Given the description of an element on the screen output the (x, y) to click on. 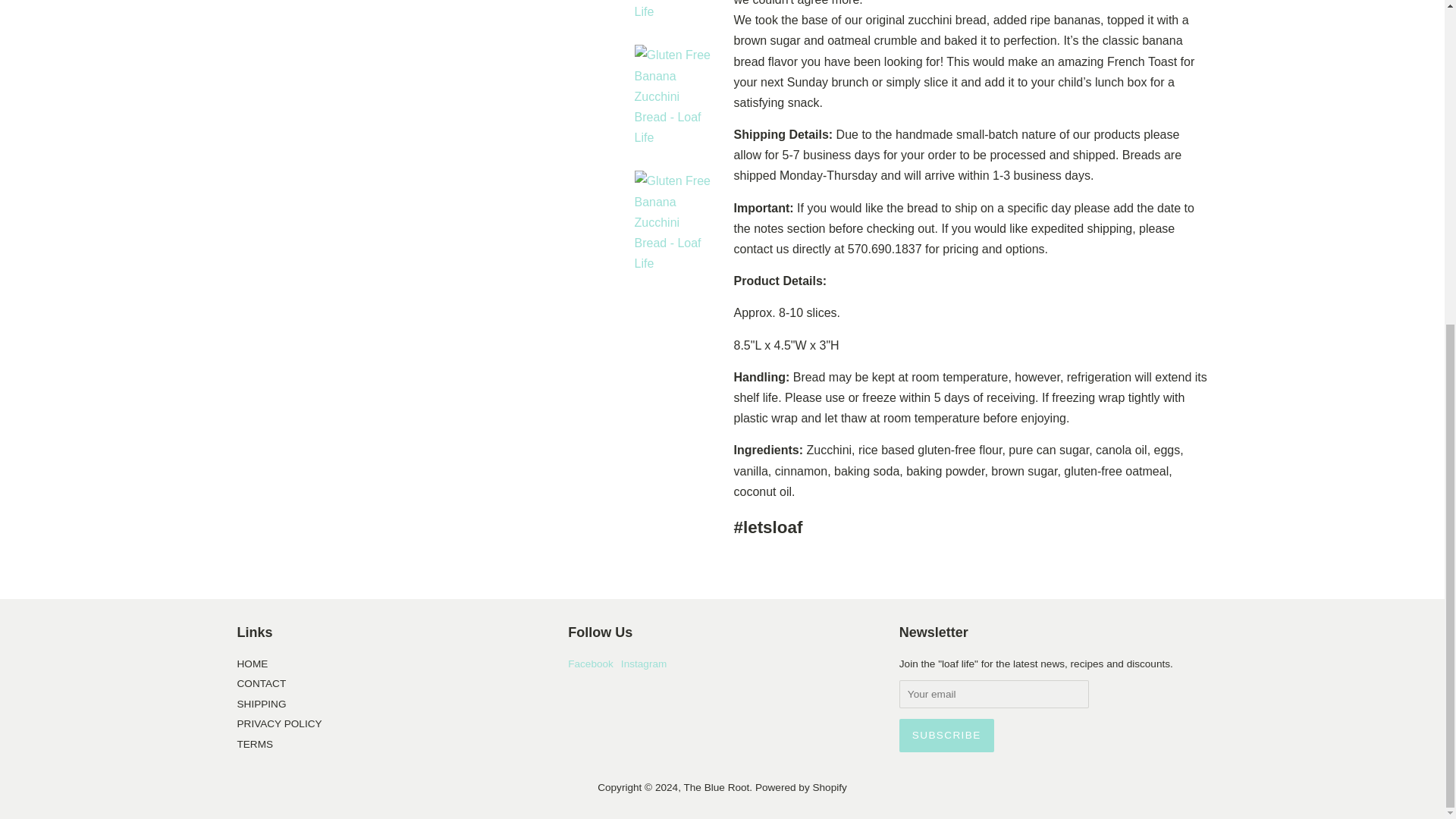
CONTACT (260, 683)
The Blue Root on Instagram (643, 663)
Instagram (643, 663)
PRIVACY POLICY (278, 723)
SHIPPING (260, 704)
The Blue Root on Facebook (589, 663)
The Blue Root (715, 787)
Subscribe (946, 735)
Facebook (589, 663)
HOME (251, 663)
